Given the description of an element on the screen output the (x, y) to click on. 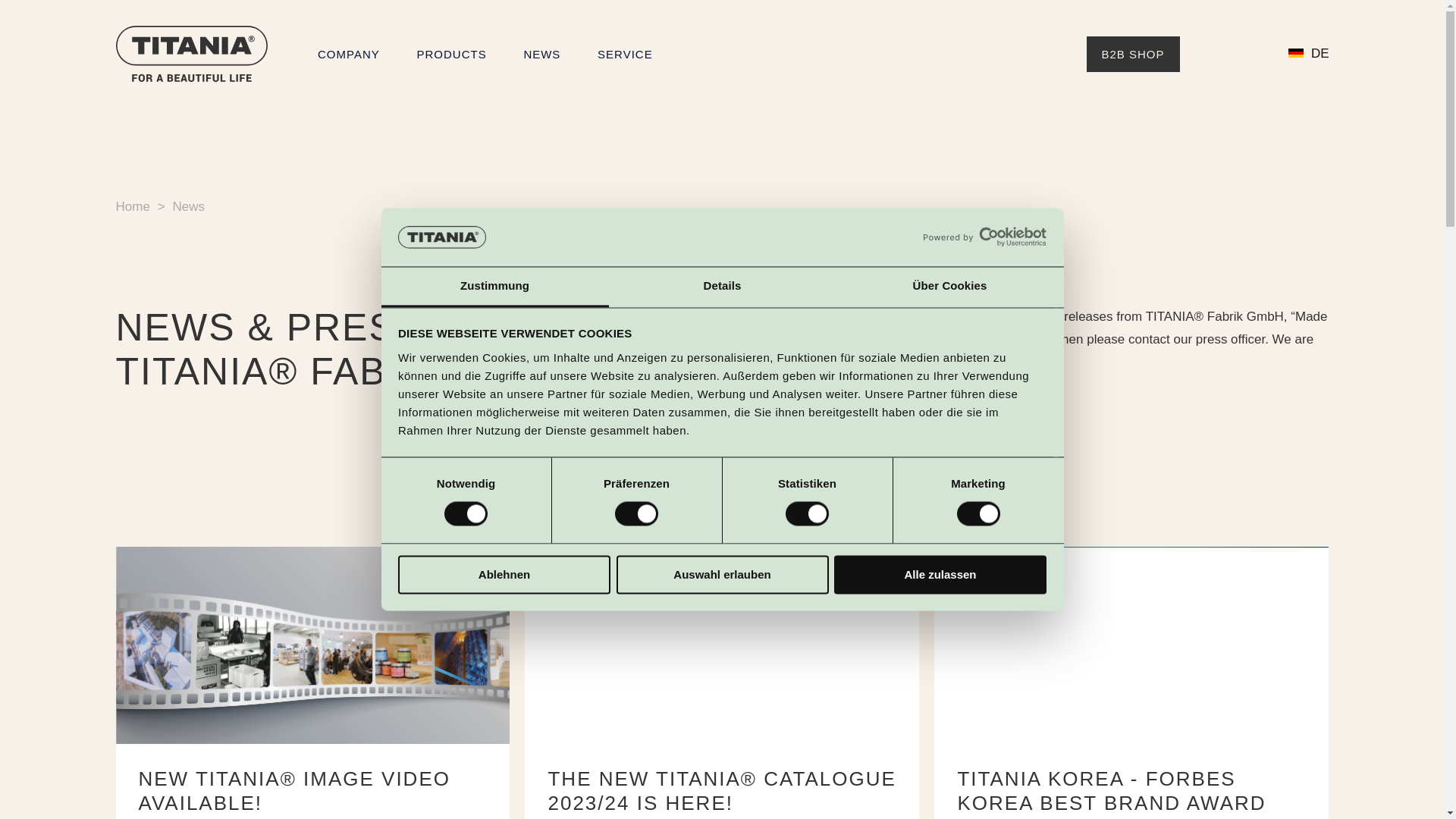
Auswahl erlauben (721, 574)
Details (721, 286)
Alle zulassen (940, 574)
Zustimmung (494, 286)
COMPANY (348, 53)
Ablehnen (503, 574)
